Given the description of an element on the screen output the (x, y) to click on. 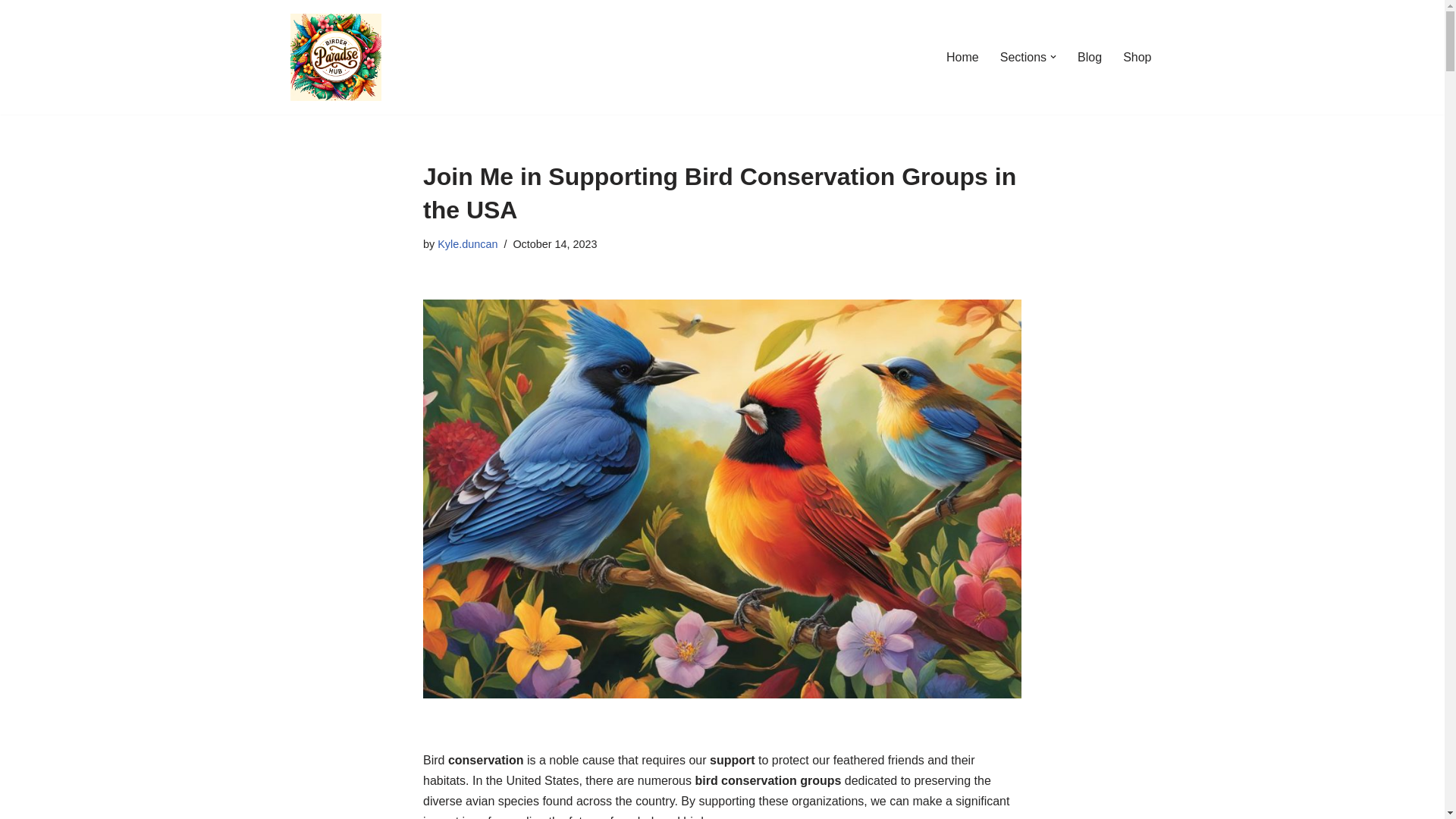
Posts by Kyle.duncan (467, 244)
Shop (1136, 56)
Kyle.duncan (467, 244)
Sections (1023, 56)
Home (962, 56)
Blog (1089, 56)
Skip to content (11, 31)
